Given the description of an element on the screen output the (x, y) to click on. 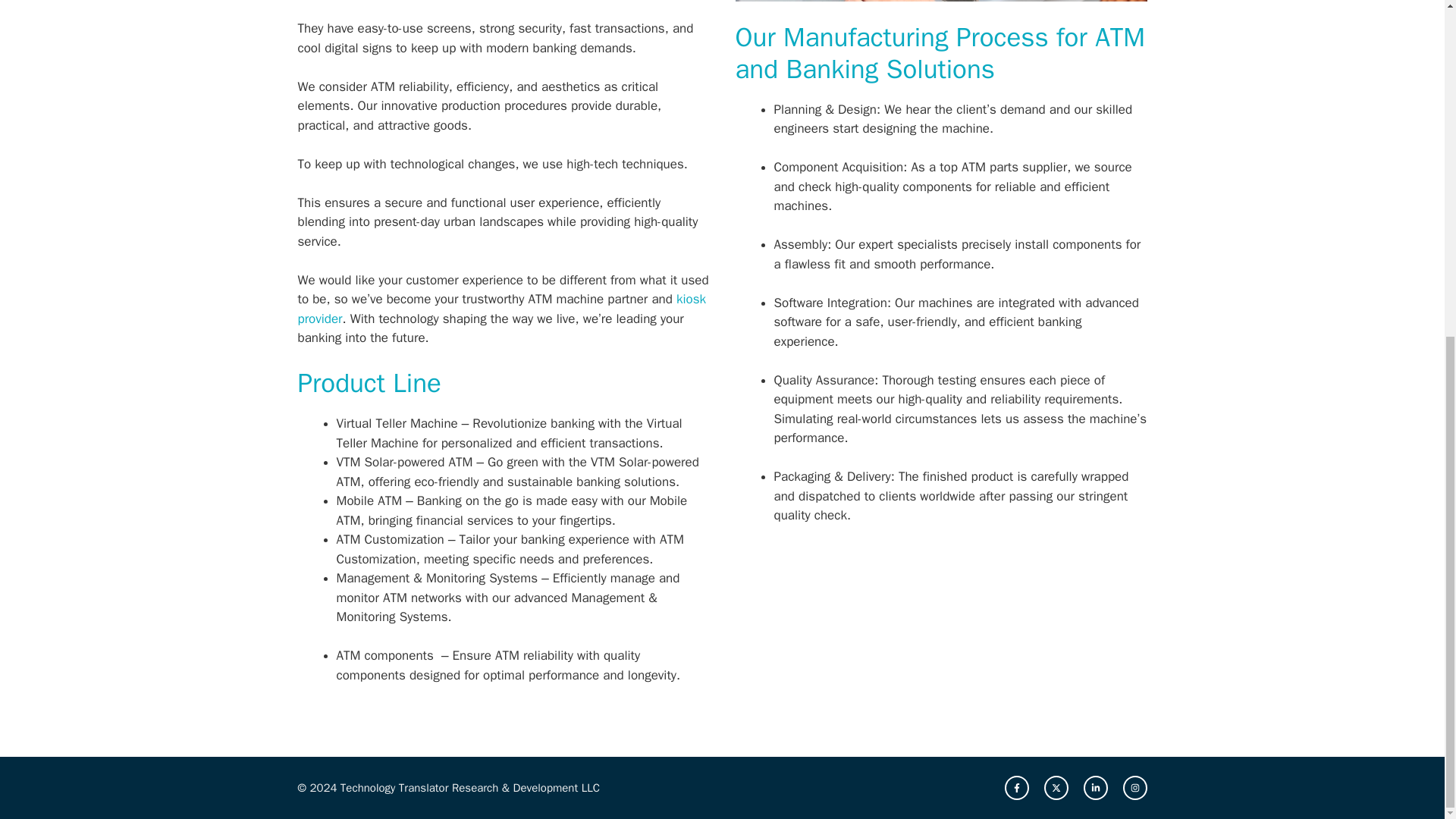
kiosk provider (501, 308)
